Given the description of an element on the screen output the (x, y) to click on. 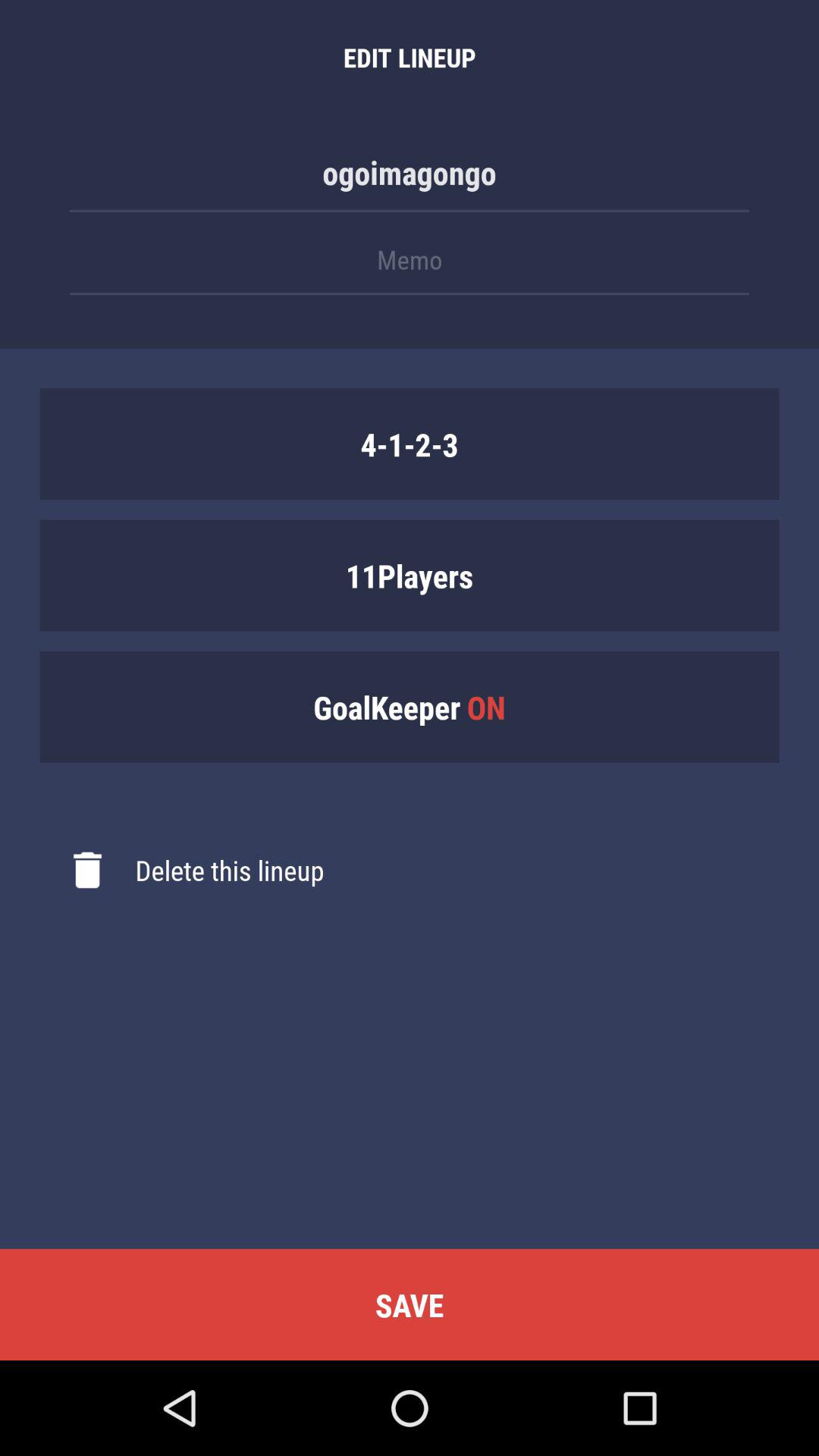
flip until the 11players (409, 575)
